Given the description of an element on the screen output the (x, y) to click on. 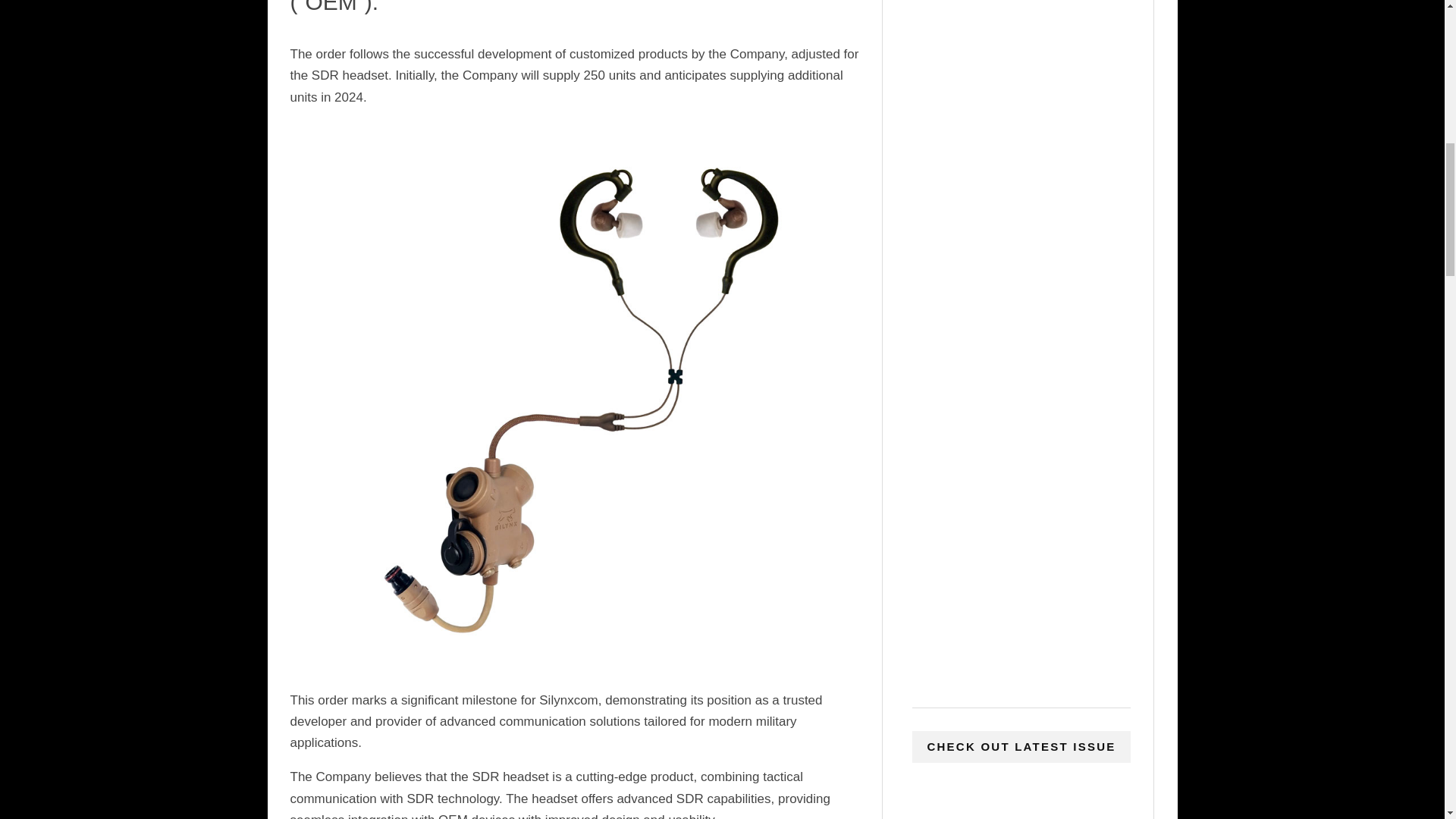
MAPA Tactical (1021, 105)
TC Gear (1021, 438)
Direct Action (1021, 668)
MAPA Tactical (1021, 206)
TC Gear (1021, 333)
Direct Action (1021, 563)
